Given the description of an element on the screen output the (x, y) to click on. 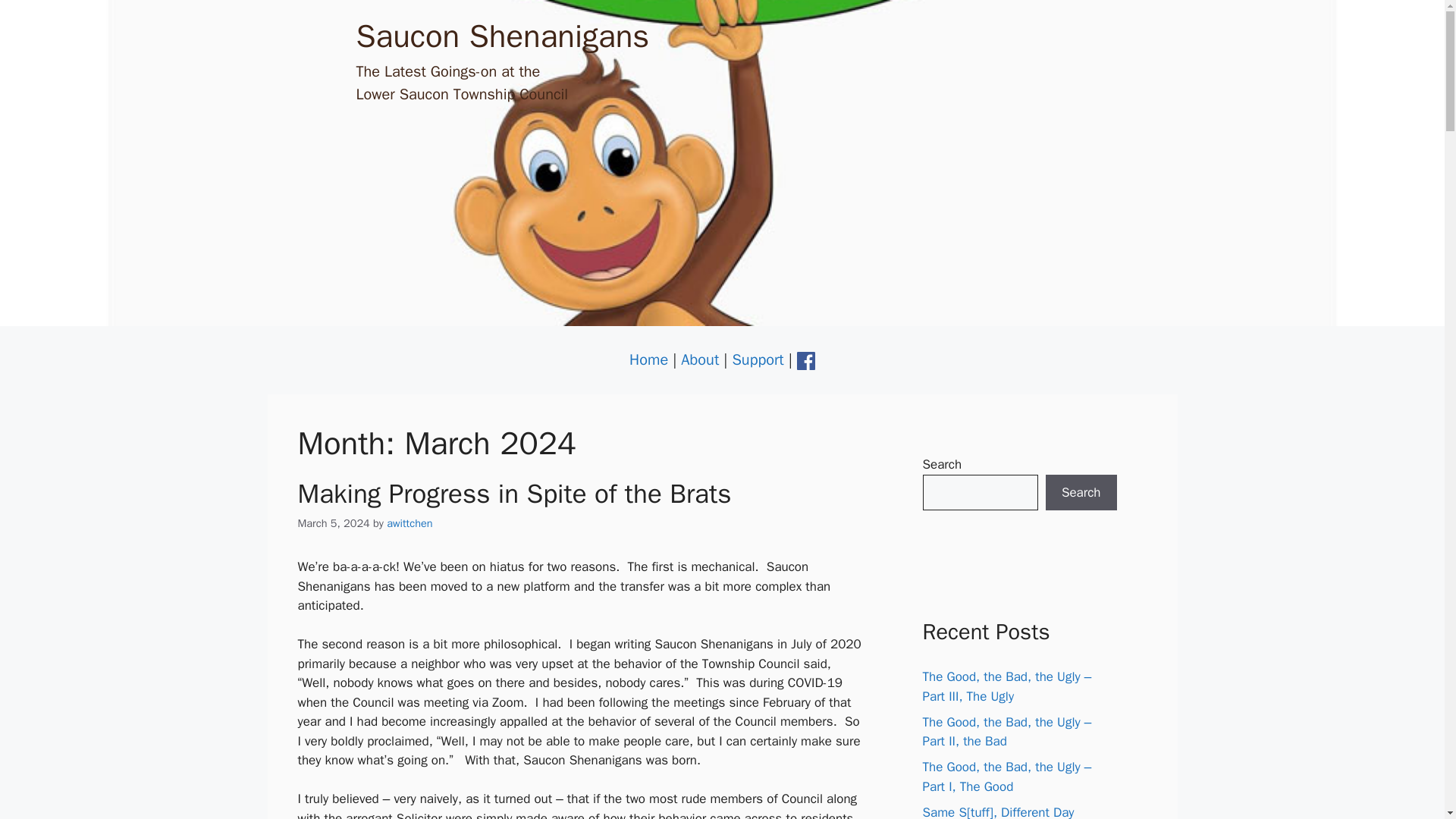
awittchen (409, 522)
Saucon Shenanigans (502, 36)
About (700, 359)
View all posts by awittchen (409, 522)
Making Progress in Spite of the Brats (513, 493)
Search (1080, 493)
Home (648, 359)
Support (757, 359)
